Given the description of an element on the screen output the (x, y) to click on. 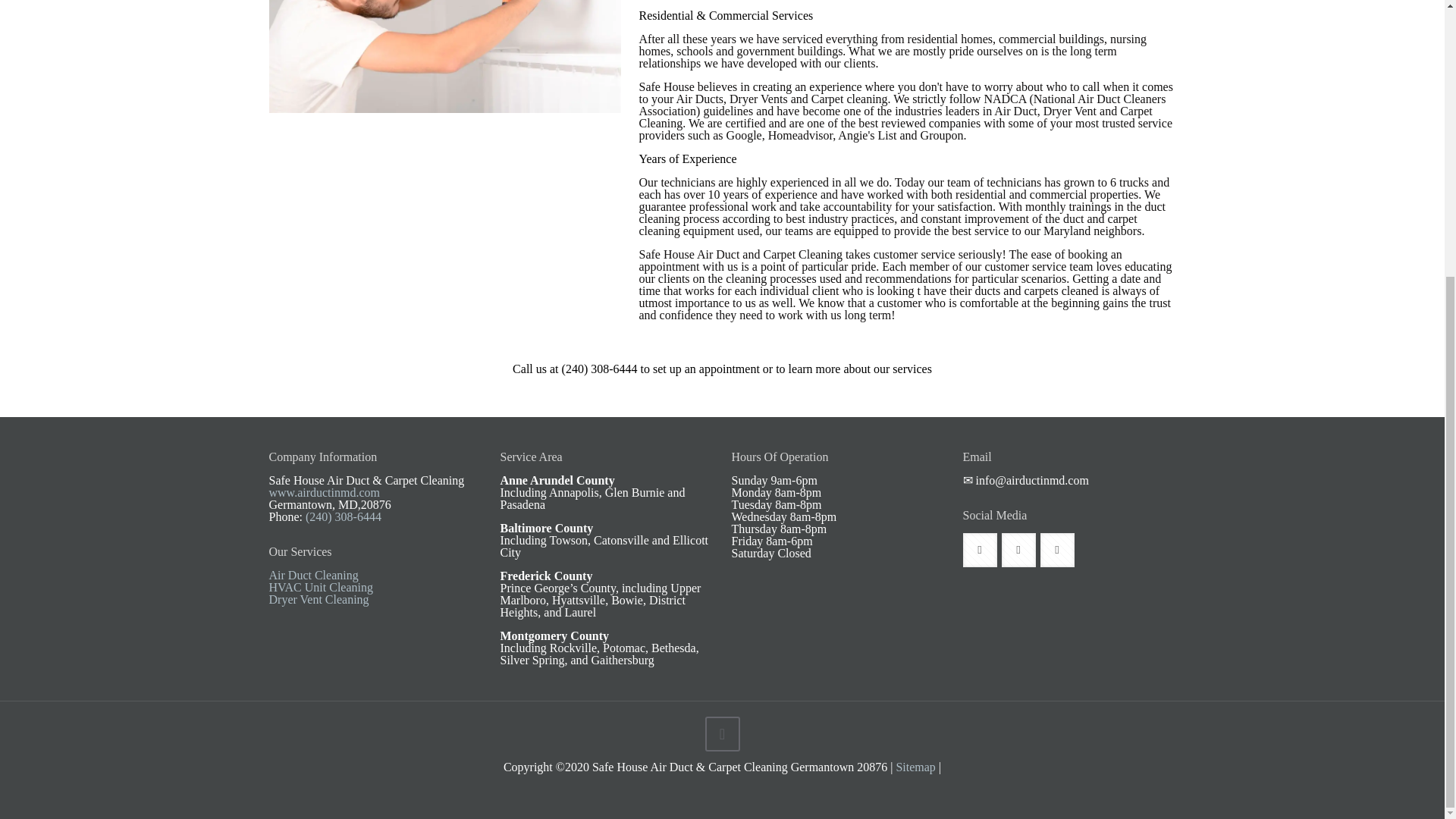
www.airductinmd.com (322, 492)
HVAC Unit Cleaning (319, 586)
Air Duct Cleaning (312, 574)
Sitemap (914, 766)
Dryer Vent Cleaning (317, 599)
